Given the description of an element on the screen output the (x, y) to click on. 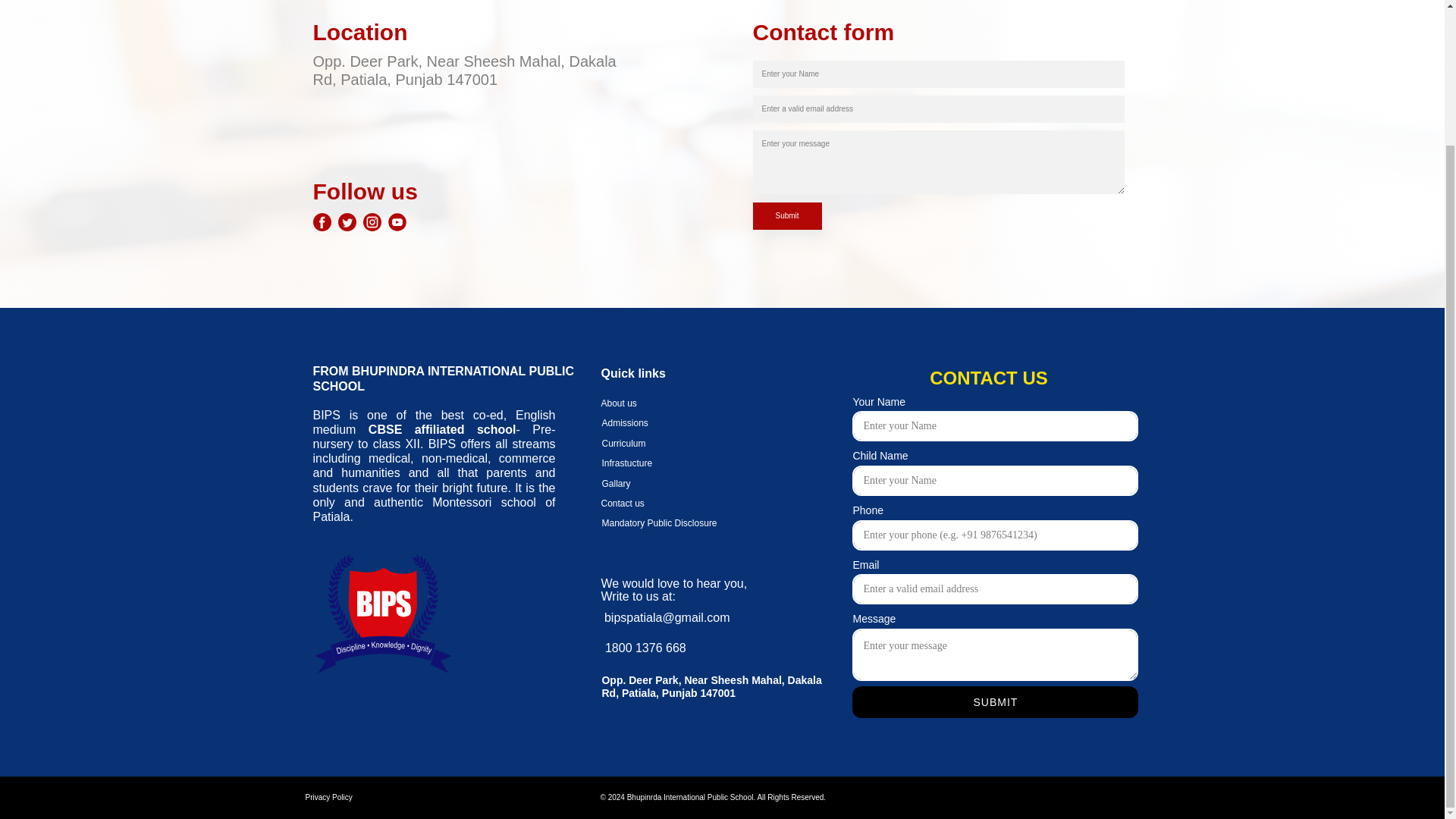
YouTube (397, 221)
Instagram (371, 221)
Twitter (346, 221)
FaceBook (321, 221)
